Given the description of an element on the screen output the (x, y) to click on. 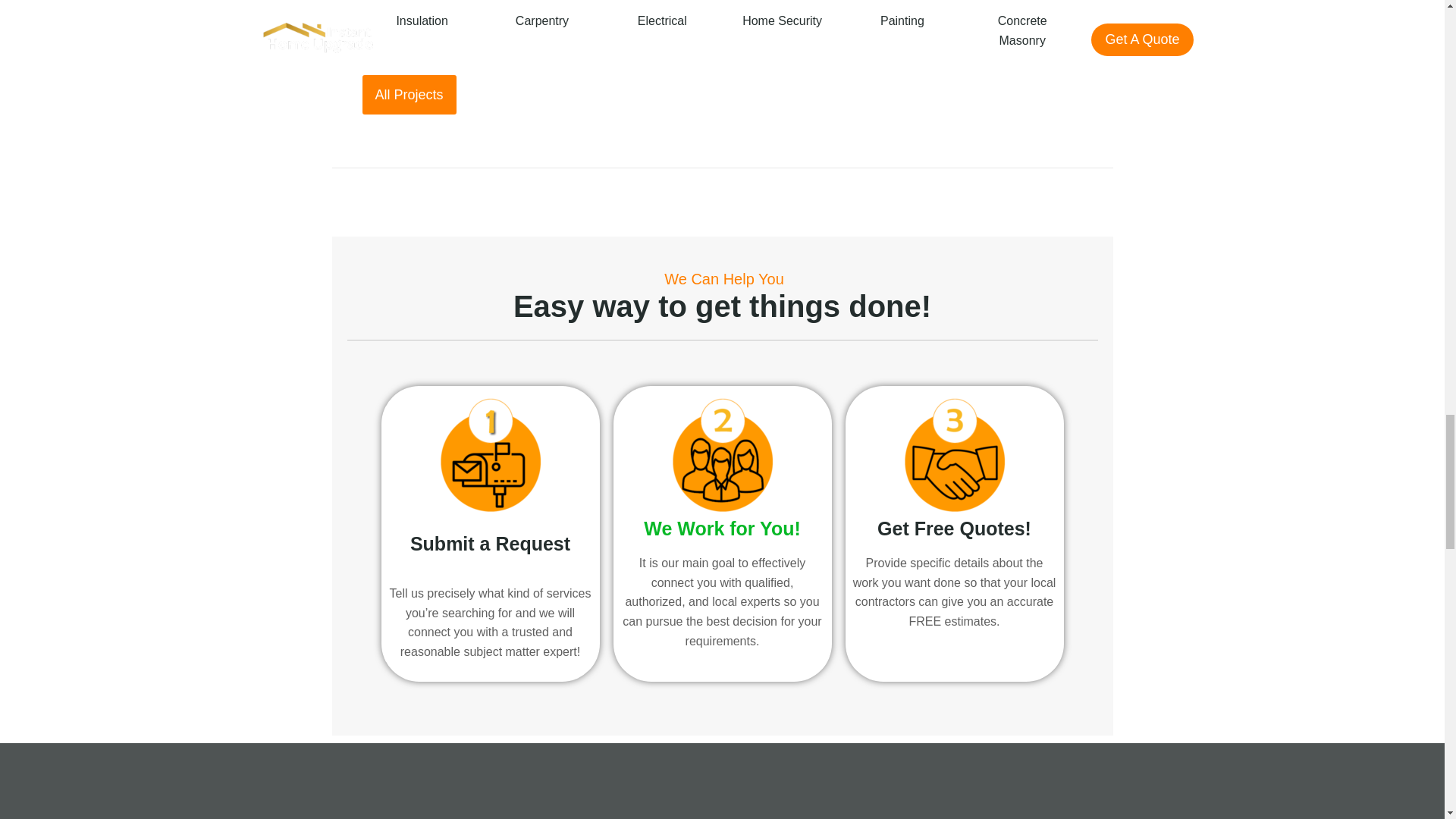
All Projects (409, 94)
